Given the description of an element on the screen output the (x, y) to click on. 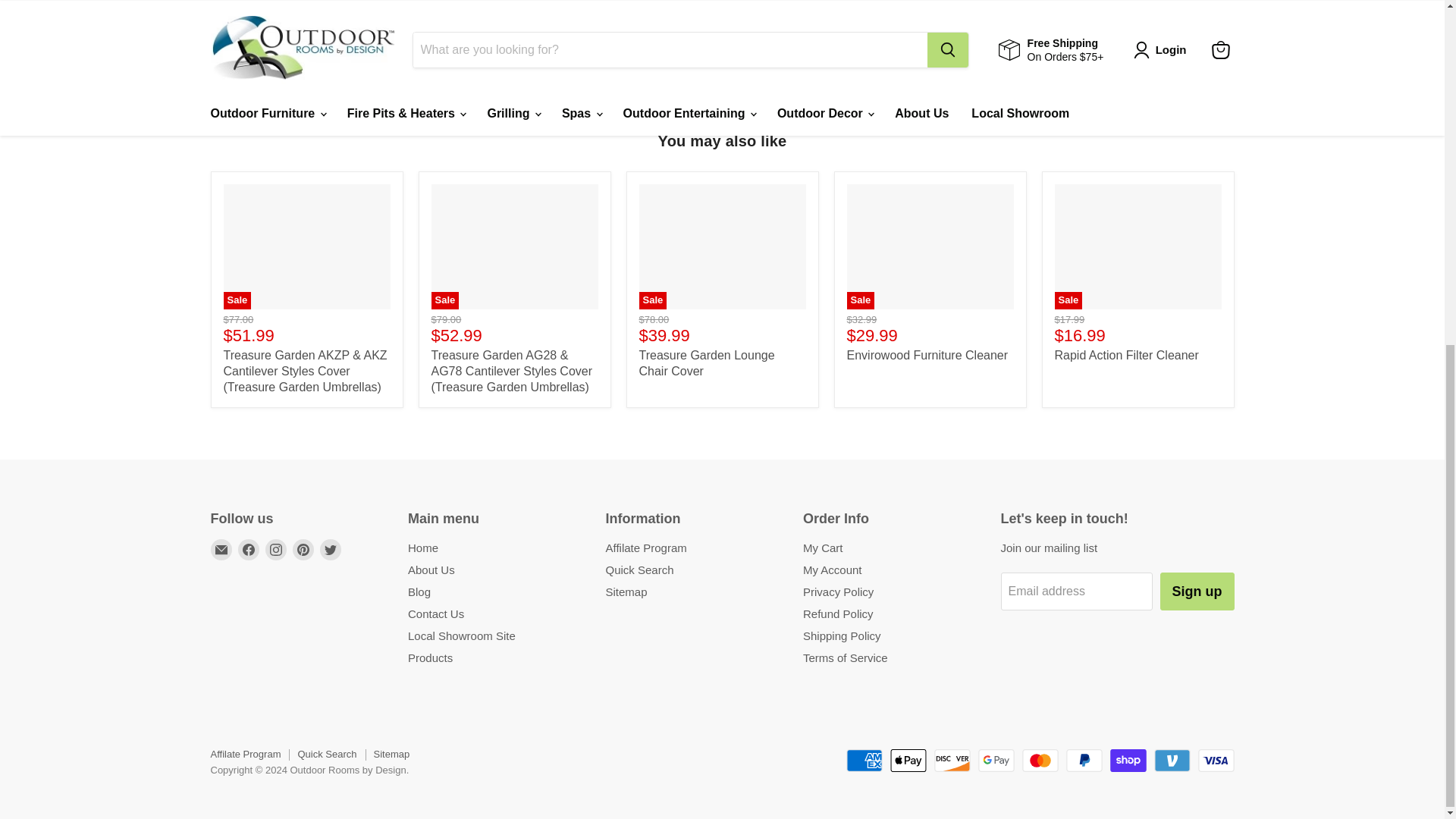
Facebook (248, 549)
Twitter (330, 549)
Pinterest (303, 549)
Instagram (275, 549)
Email (221, 549)
